Given the description of an element on the screen output the (x, y) to click on. 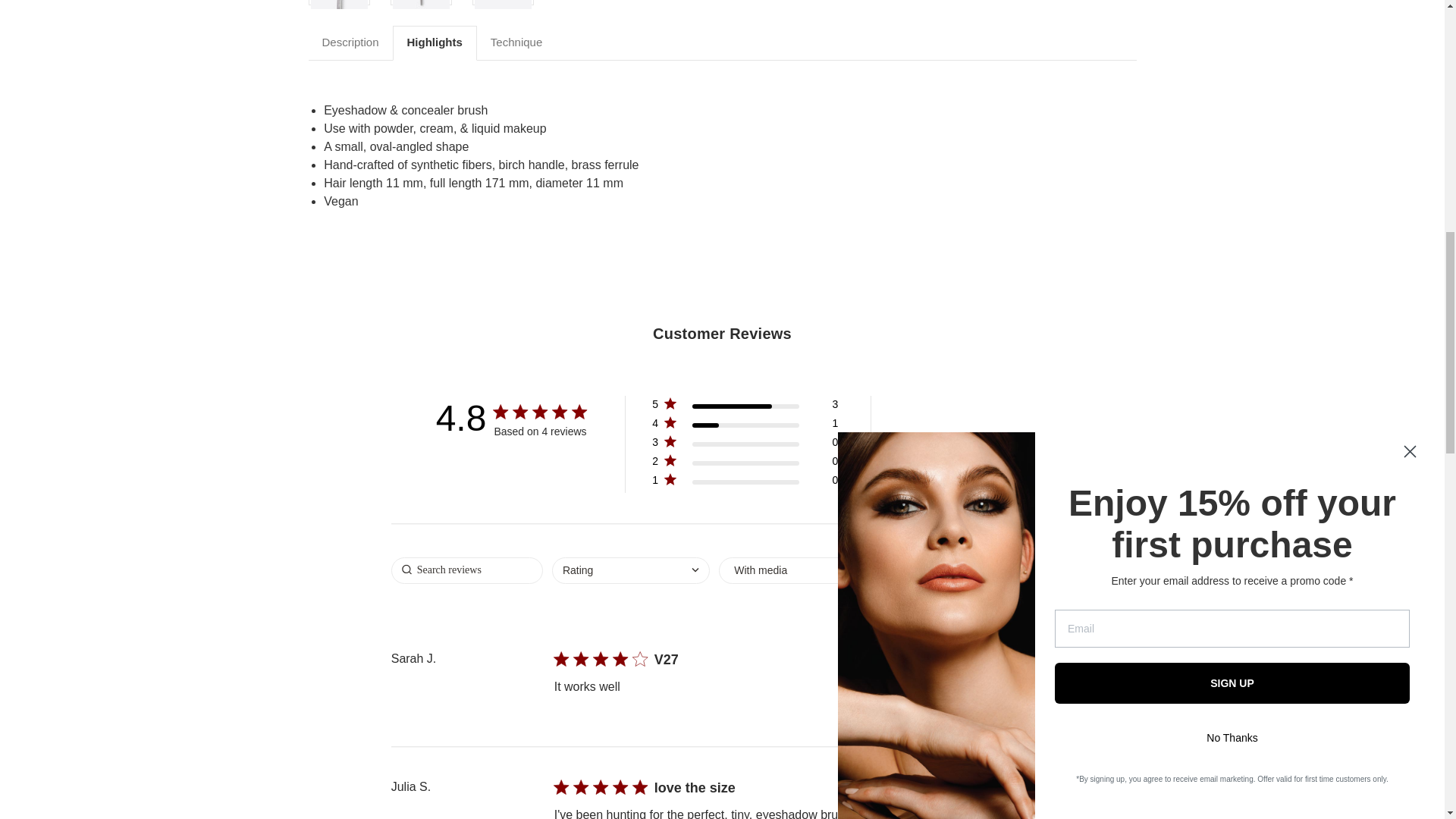
V27 - Small Shadow Brush (421, 4)
